Given the description of an element on the screen output the (x, y) to click on. 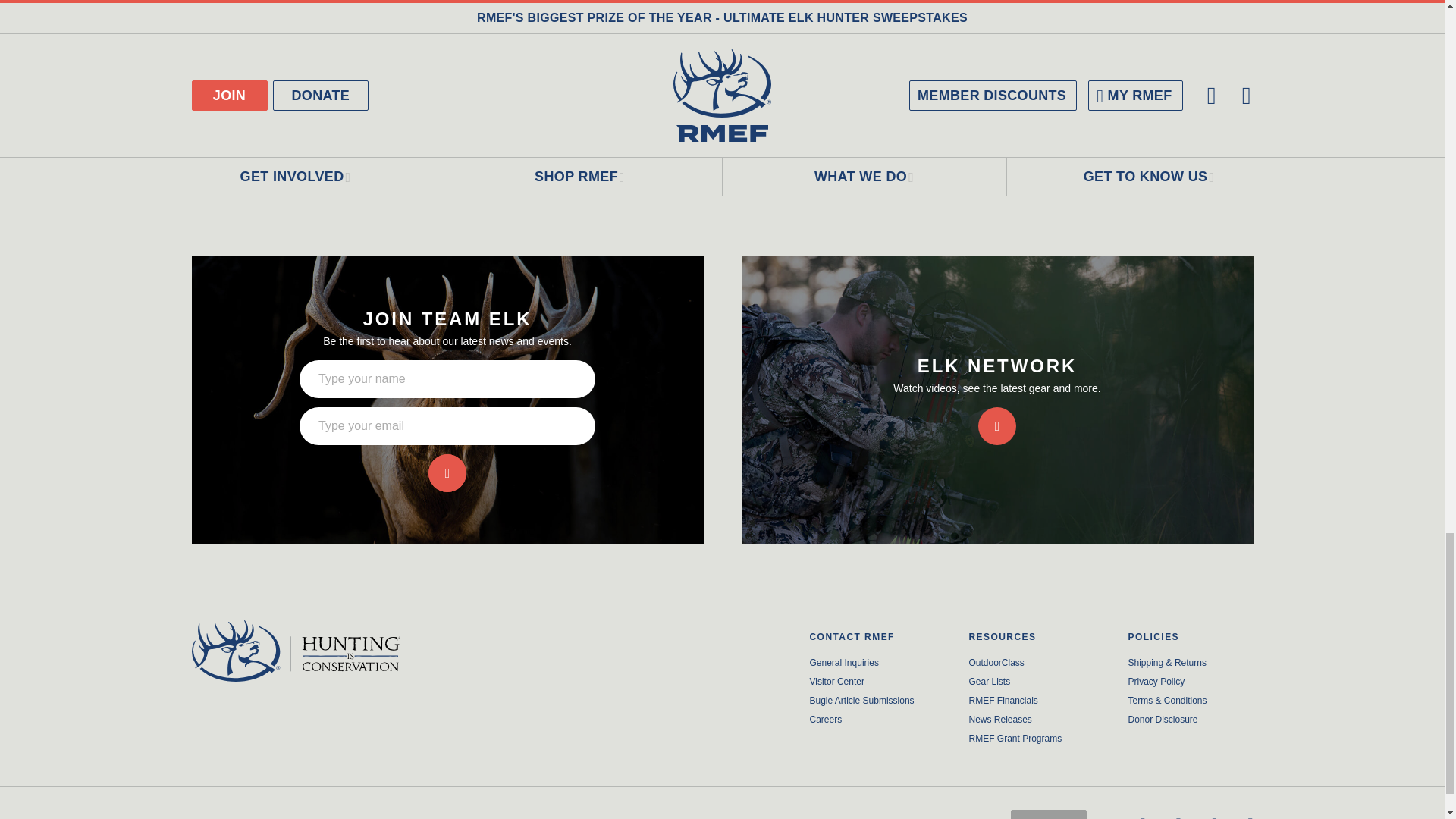
Facebook (1142, 809)
Home (314, 650)
Youtube (1249, 809)
Twitter (1178, 809)
Instagram (1213, 809)
